Given the description of an element on the screen output the (x, y) to click on. 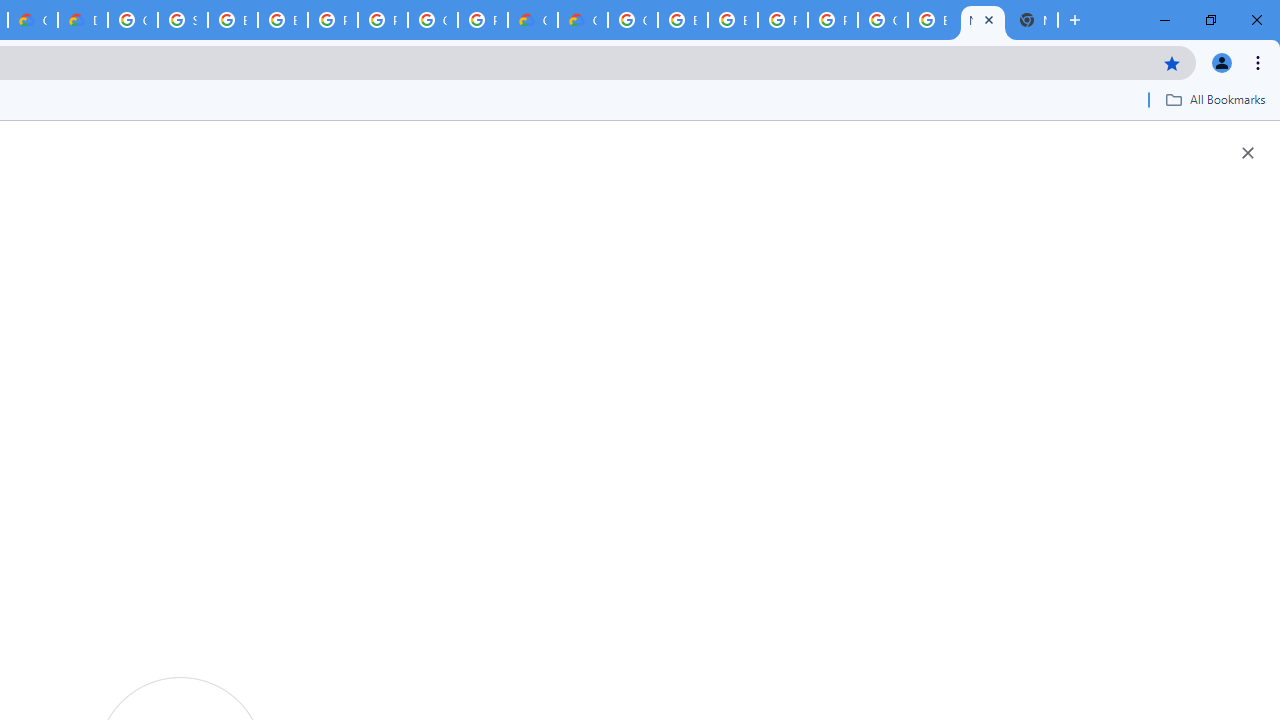
Google Cloud Estimate Summary (582, 20)
New Tab (1032, 20)
Google Cloud Platform (632, 20)
Google Cloud Platform (882, 20)
Browse Chrome as a guest - Computer - Google Chrome Help (283, 20)
Sign in - Google Accounts (182, 20)
Google Cloud Platform (433, 20)
Browse Chrome as a guest - Computer - Google Chrome Help (232, 20)
